Given the description of an element on the screen output the (x, y) to click on. 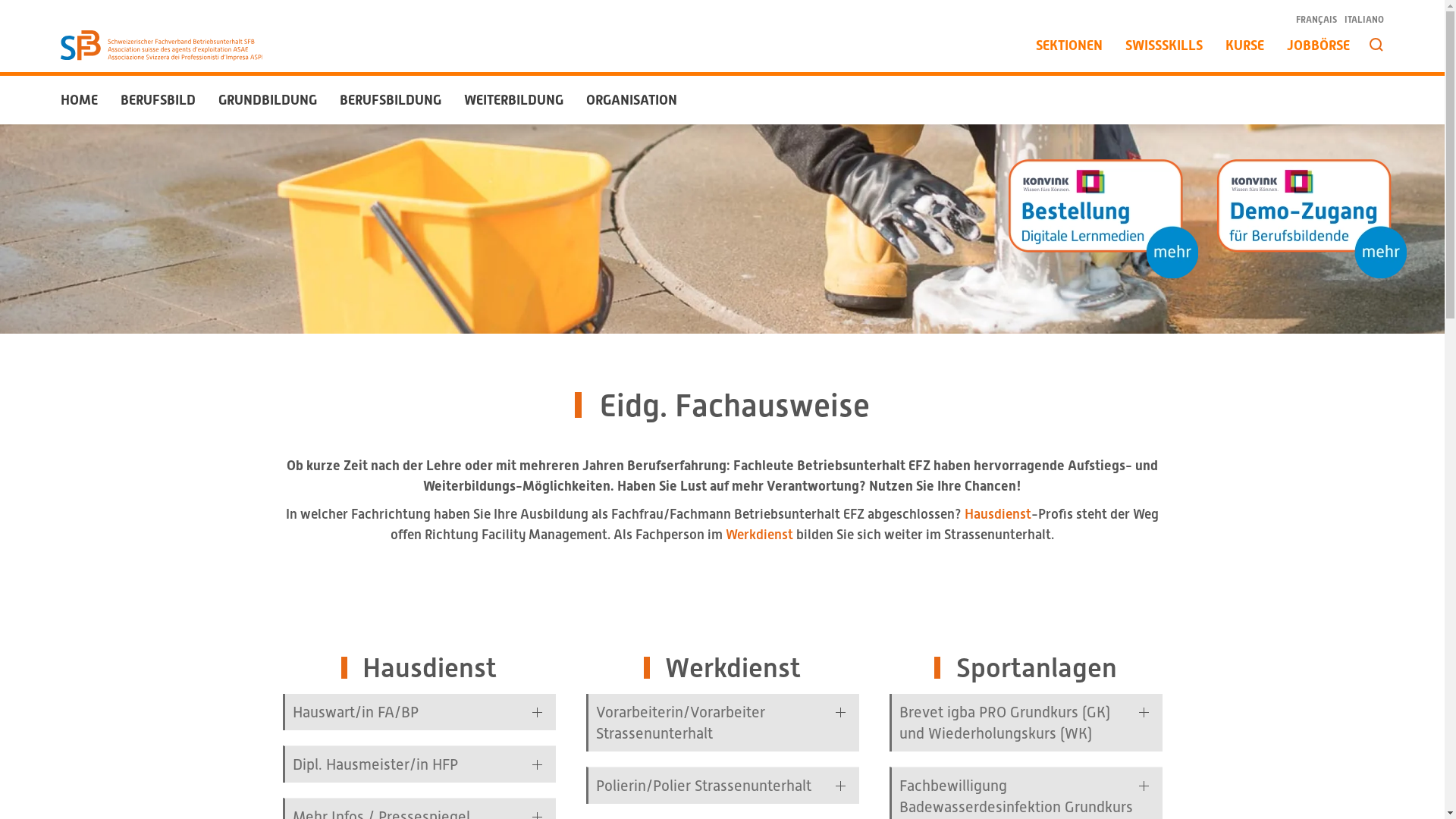
Hausdienst Element type: text (997, 513)
Werkdienst Element type: text (759, 534)
Vorarbeiterin/Vorarbeiter Strassenunterhalt Element type: text (723, 722)
BERUFSBILDUNG Element type: text (390, 99)
Hauswart/in FA/BP Element type: text (420, 711)
ITALIANO Element type: text (1363, 19)
Brevet igba PRO Grundkurs (GK) und Wiederholungskurs (WK) Element type: text (1026, 722)
KURSE Element type: text (1244, 45)
ORGANISATION Element type: text (631, 99)
SEKTIONEN Element type: text (1068, 45)
HOME Element type: text (78, 99)
WEITERBILDUNG Element type: text (513, 99)
BERUFSBILD Element type: text (157, 99)
Polierin/Polier Strassenunterhalt Element type: text (723, 785)
SWISSSKILLS Element type: text (1163, 45)
GRUNDBILDUNG Element type: text (267, 99)
Dipl. Hausmeister/in HFP Element type: text (420, 764)
